Given the description of an element on the screen output the (x, y) to click on. 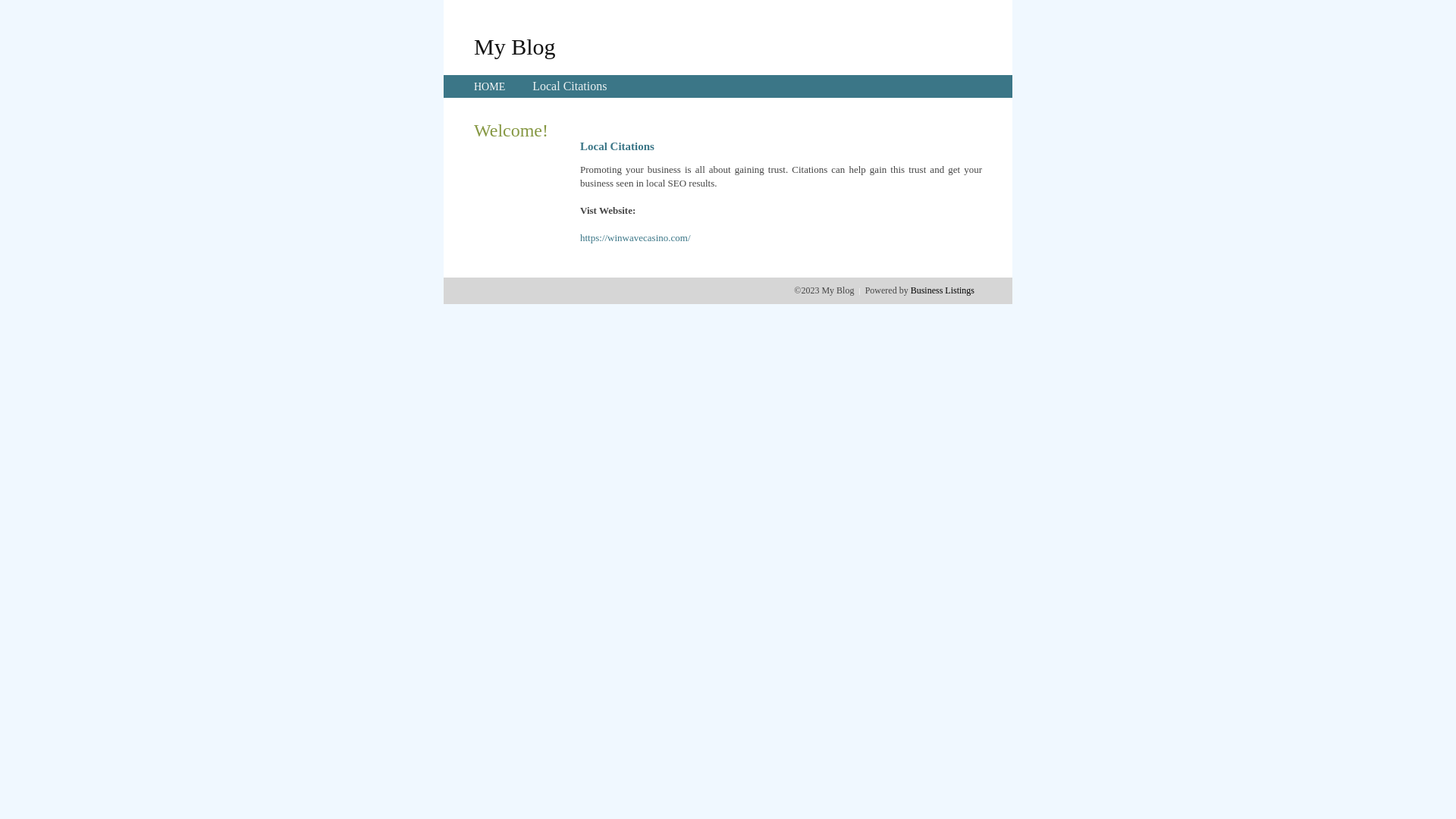
HOME Element type: text (489, 86)
https://winwavecasino.com/ Element type: text (635, 237)
Local Citations Element type: text (569, 85)
My Blog Element type: text (514, 46)
Business Listings Element type: text (942, 290)
